Given the description of an element on the screen output the (x, y) to click on. 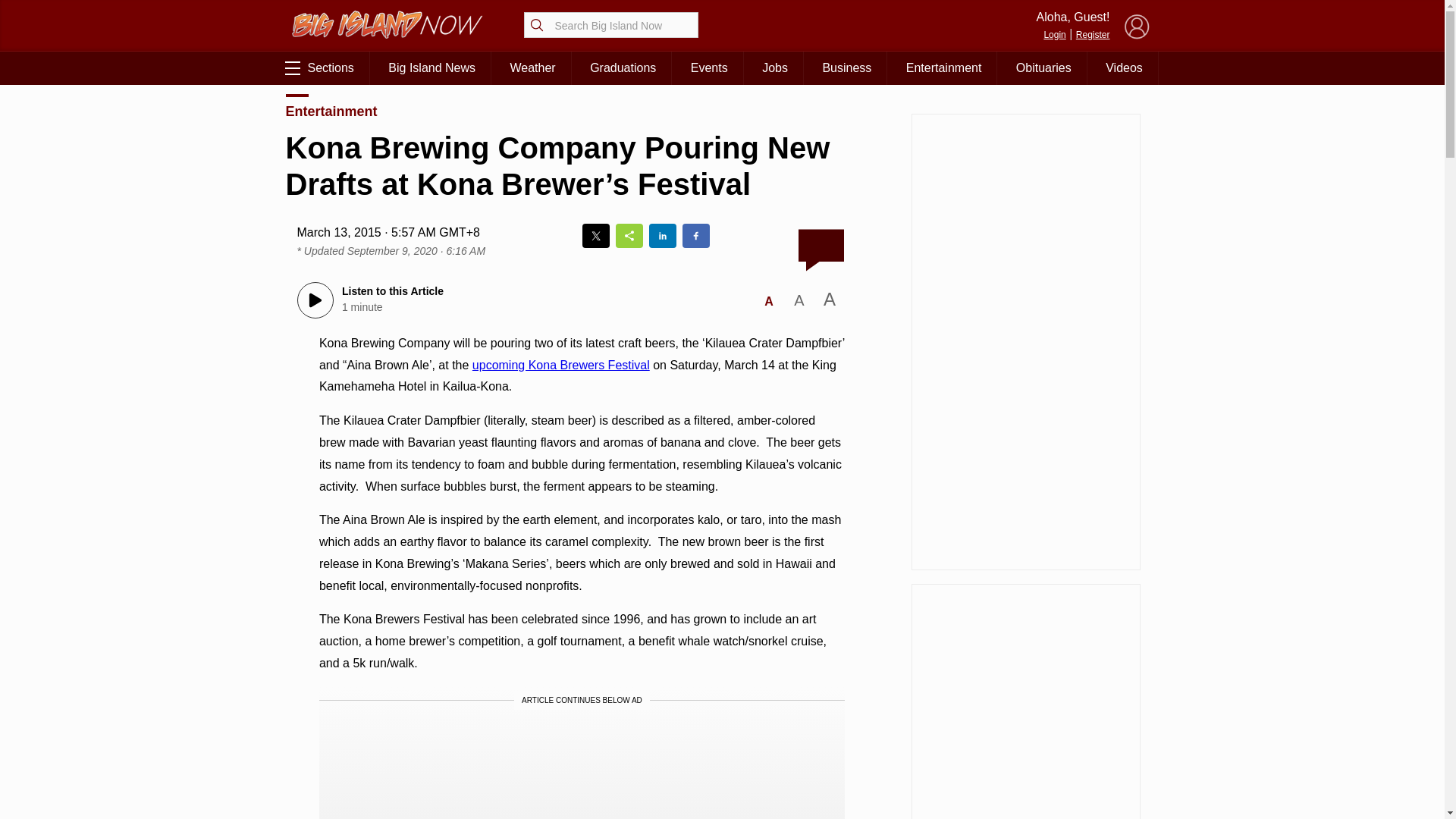
3rd party ad content (581, 770)
